Given the description of an element on the screen output the (x, y) to click on. 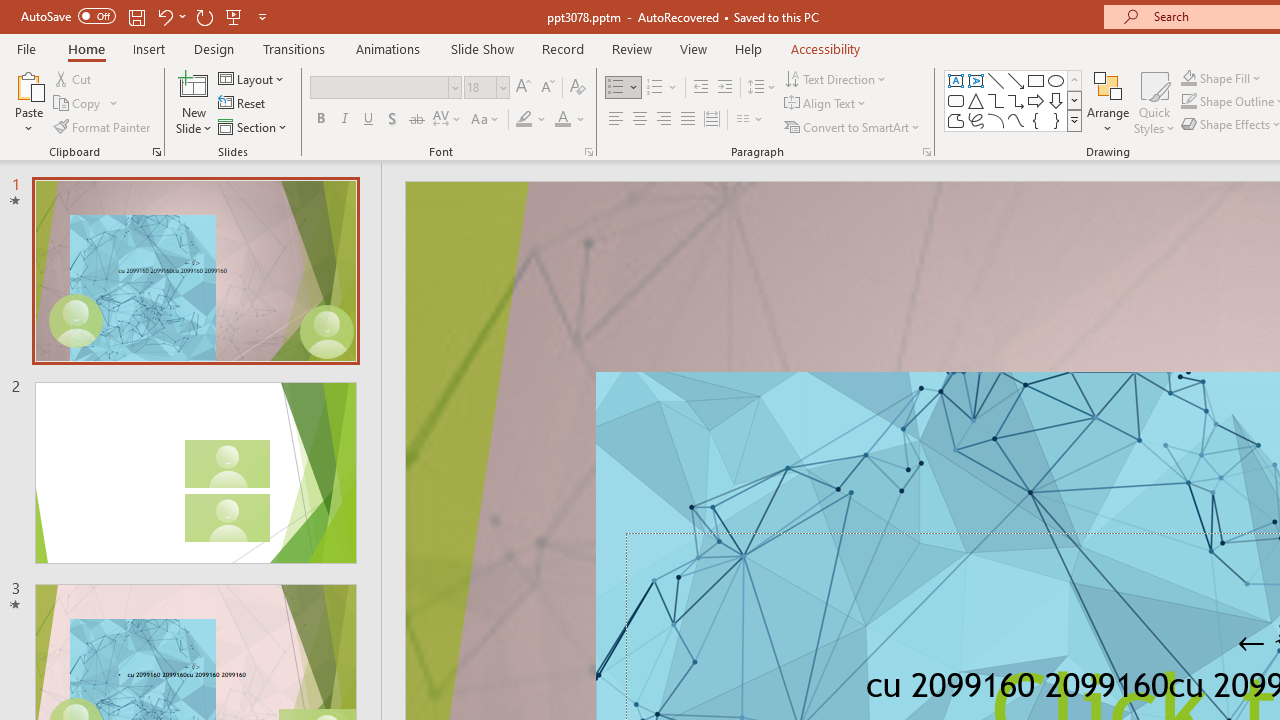
Shape Fill Dark Green, Accent 2 (1188, 78)
